Given the description of an element on the screen output the (x, y) to click on. 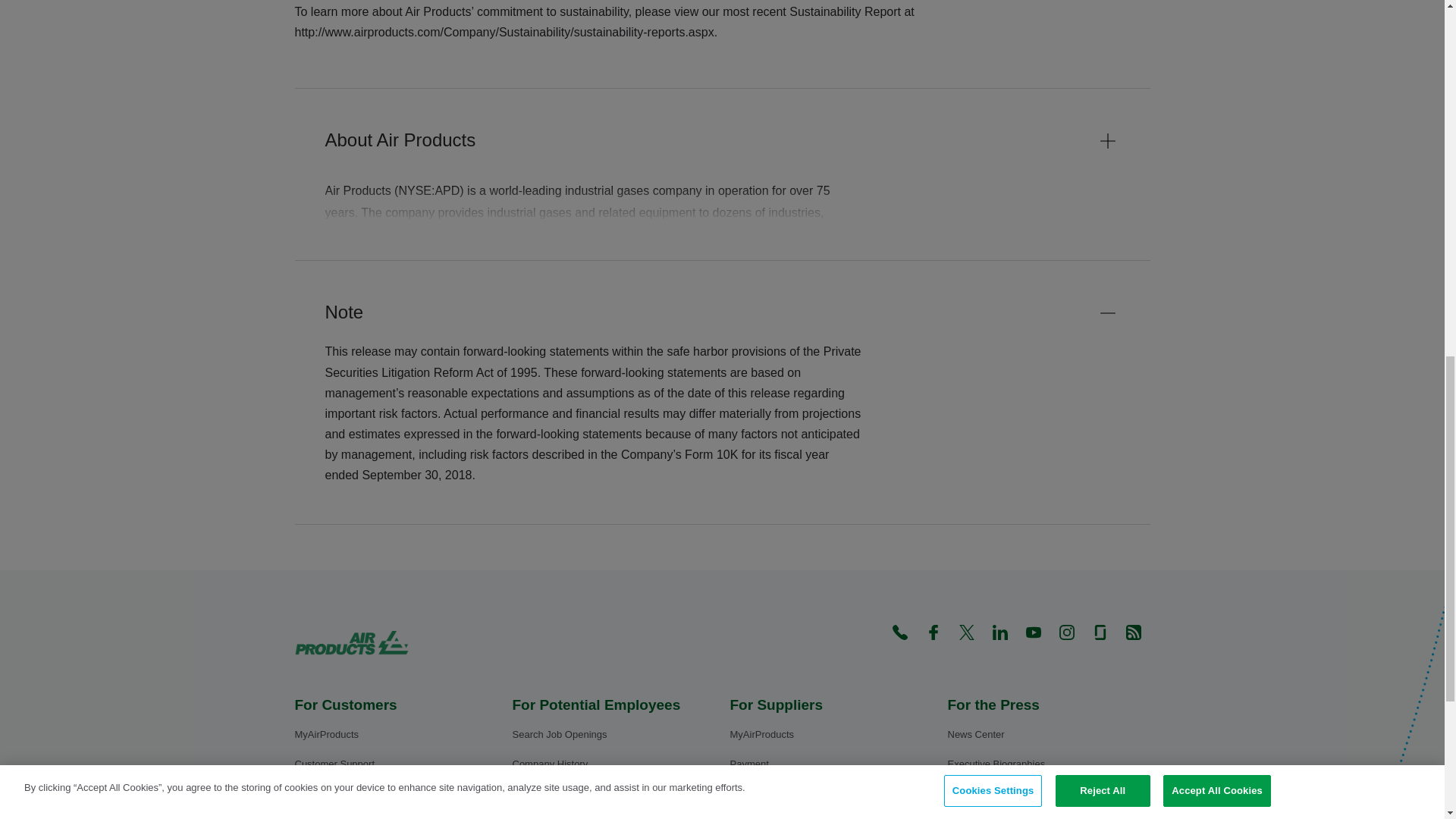
Toggle accordion (1106, 312)
Toggle accordion (1106, 140)
